Given the description of an element on the screen output the (x, y) to click on. 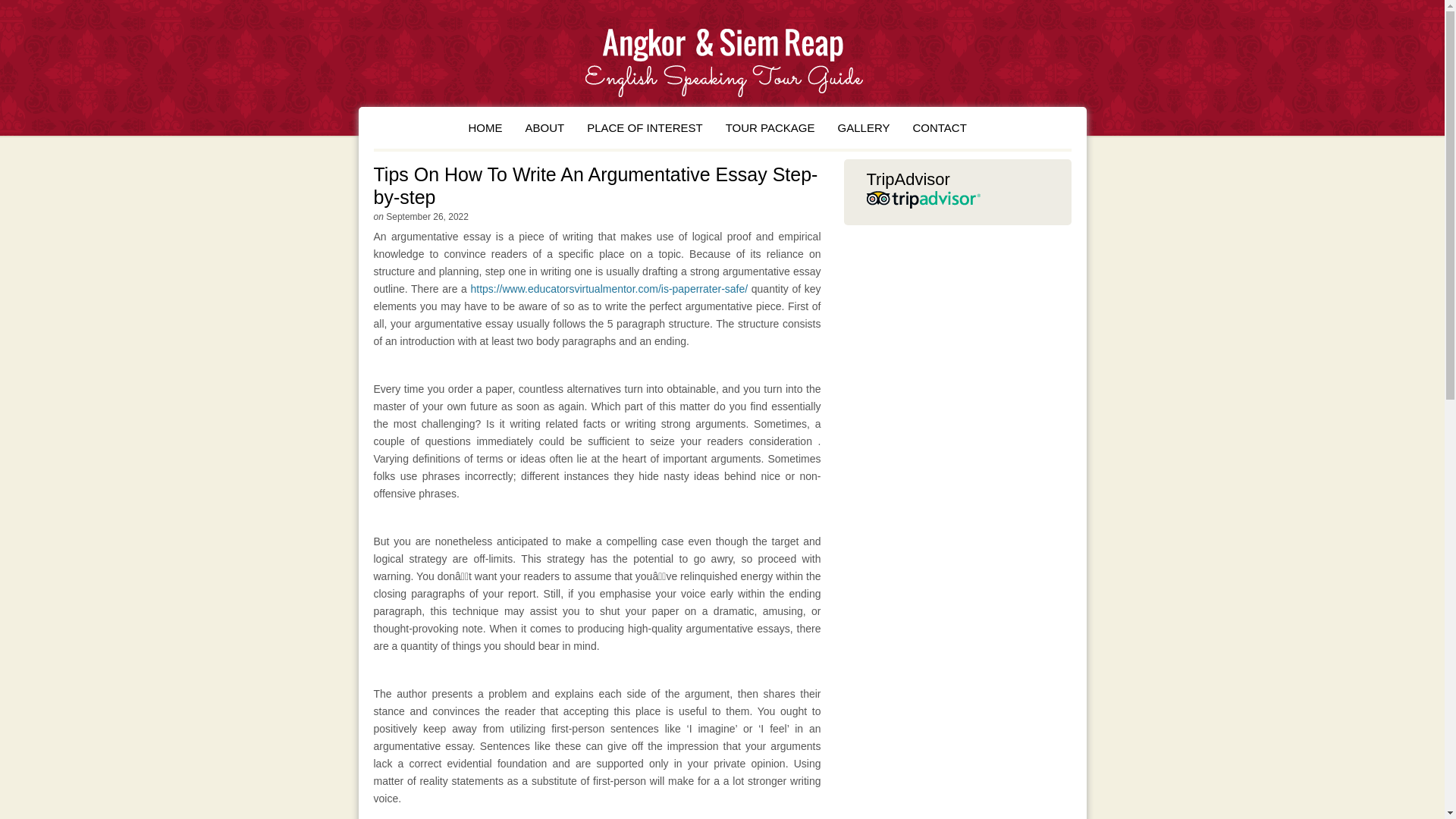
GALLERY (864, 127)
ABOUT (544, 127)
CONTACT (938, 127)
PLACE OF INTEREST (644, 127)
HOME (485, 127)
TOUR PACKAGE (770, 127)
